Given the description of an element on the screen output the (x, y) to click on. 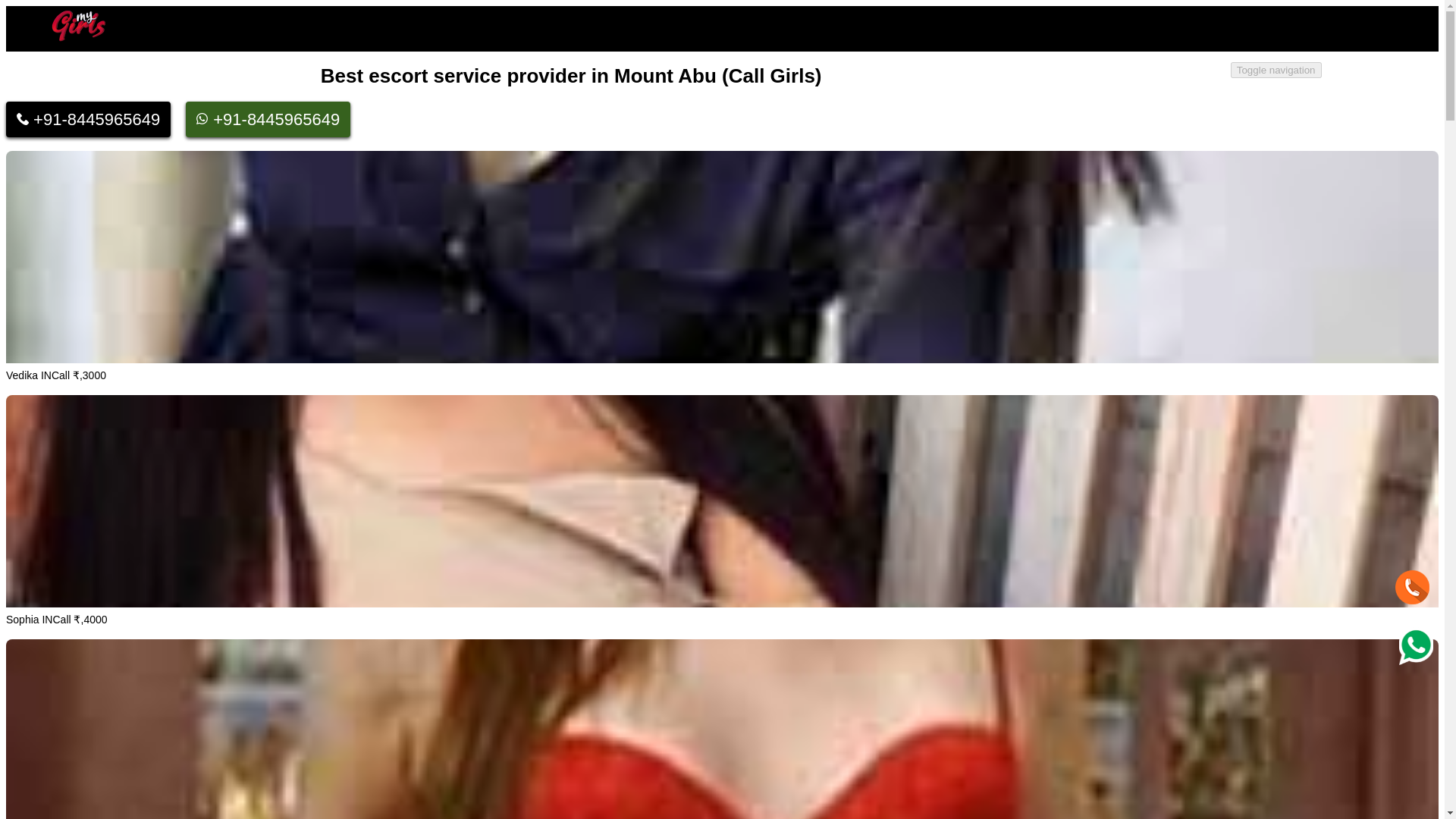
Home (1170, 83)
CONTACT US (1359, 83)
HOME (1170, 83)
Toggle navigation (1276, 69)
Chat with me (1411, 587)
GALLERY (1253, 83)
